Given the description of an element on the screen output the (x, y) to click on. 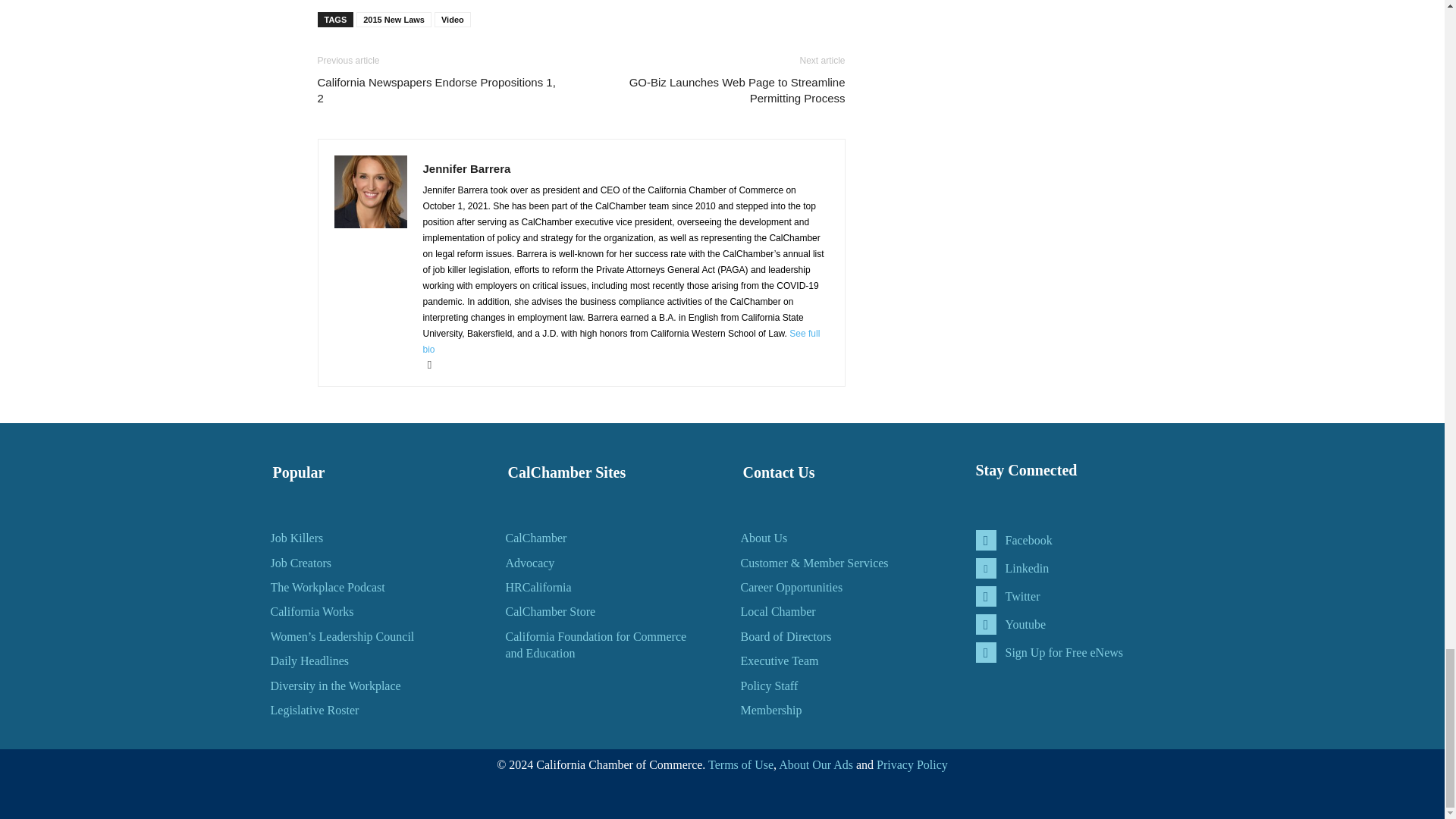
2015 New Laws (393, 19)
GO-Biz Launches Web Page to Streamline Permitting Process (721, 90)
California Newspapers Endorse Propositions 1, 2 (439, 90)
Video (451, 19)
